Given the description of an element on the screen output the (x, y) to click on. 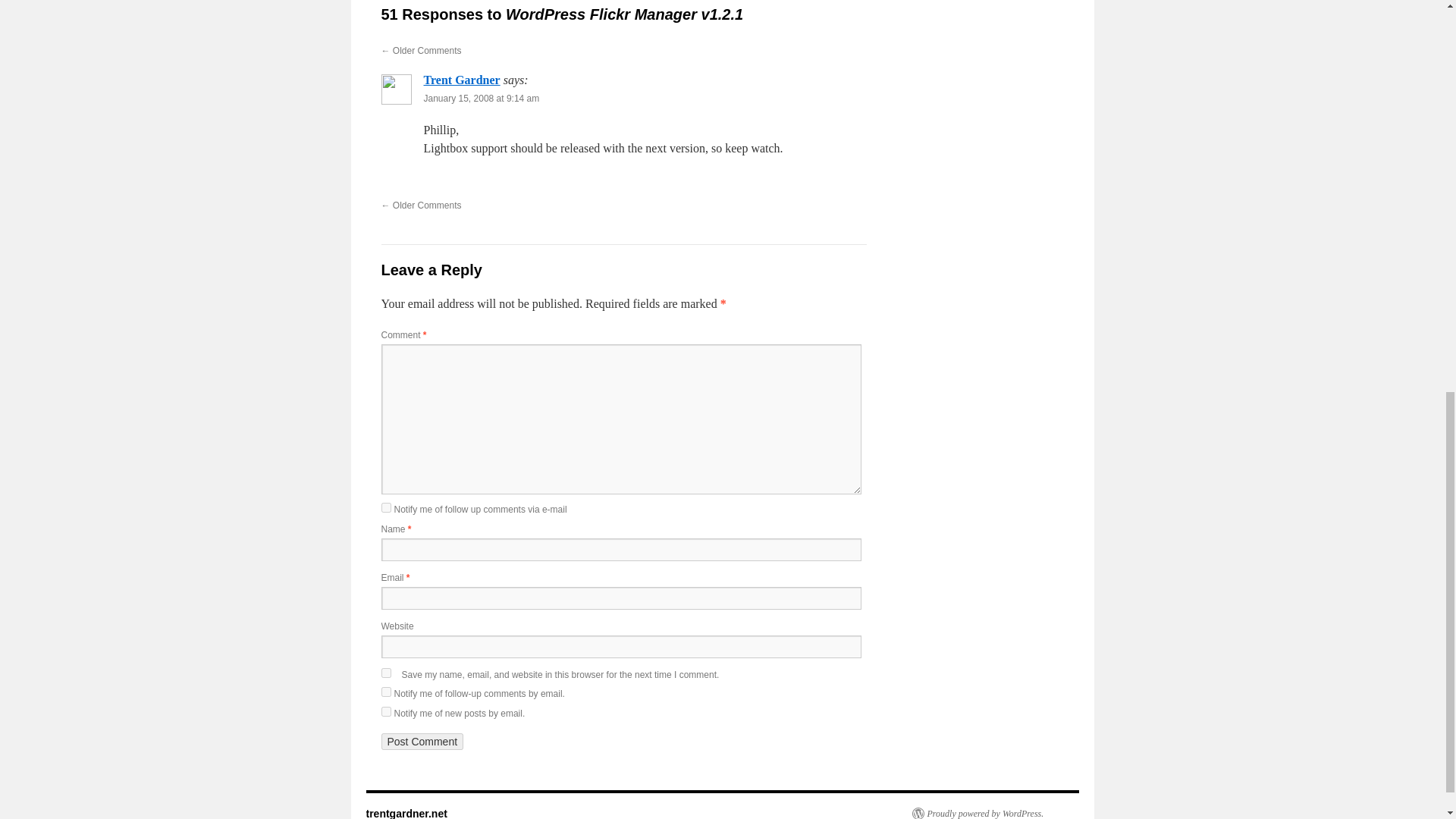
Trent Gardner (461, 79)
subscribe (385, 691)
Post Comment (421, 741)
subscribe (385, 711)
Post Comment (421, 741)
January 15, 2008 at 9:14 am (480, 98)
yes (385, 673)
subscribe (385, 507)
